Given the description of an element on the screen output the (x, y) to click on. 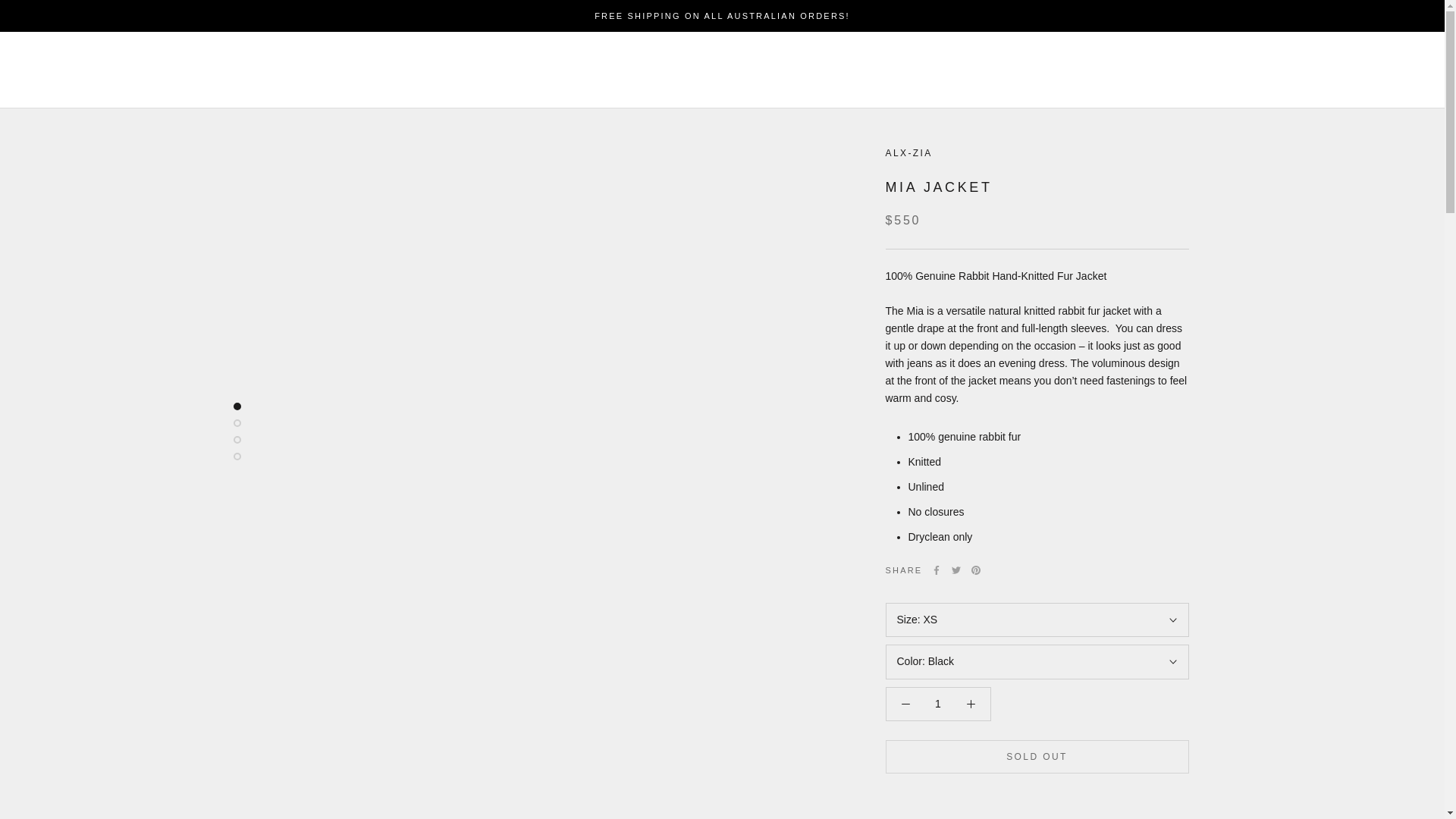
FREE SHIPPING ON ALL AUSTRALIAN ORDERS! (722, 15)
1 (938, 703)
